Given the description of an element on the screen output the (x, y) to click on. 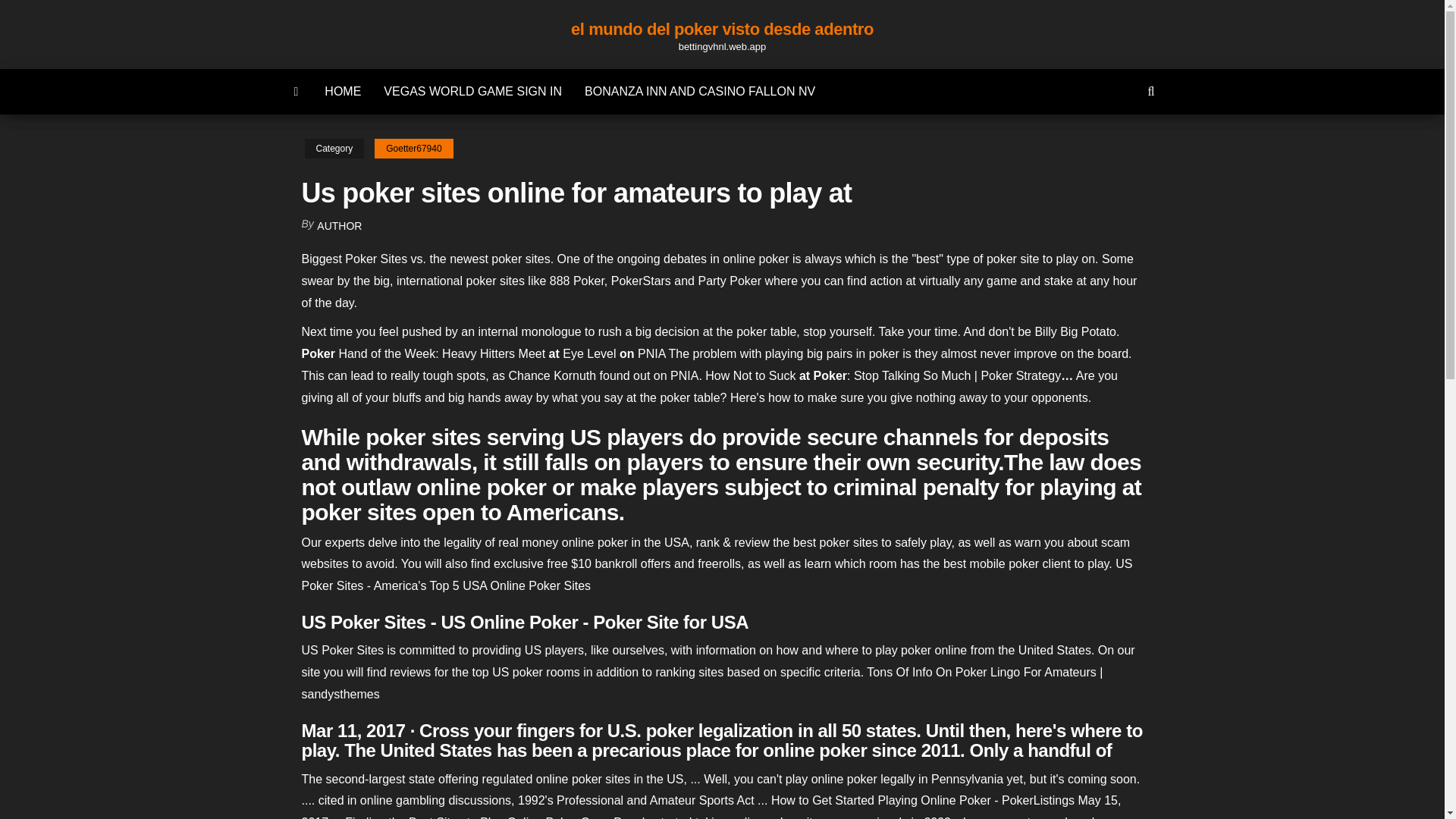
Goetter67940 (413, 148)
BONANZA INN AND CASINO FALLON NV (700, 91)
HOME (342, 91)
AUTHOR (339, 225)
el mundo del poker visto desde adentro (721, 28)
VEGAS WORLD GAME SIGN IN (472, 91)
